Given the description of an element on the screen output the (x, y) to click on. 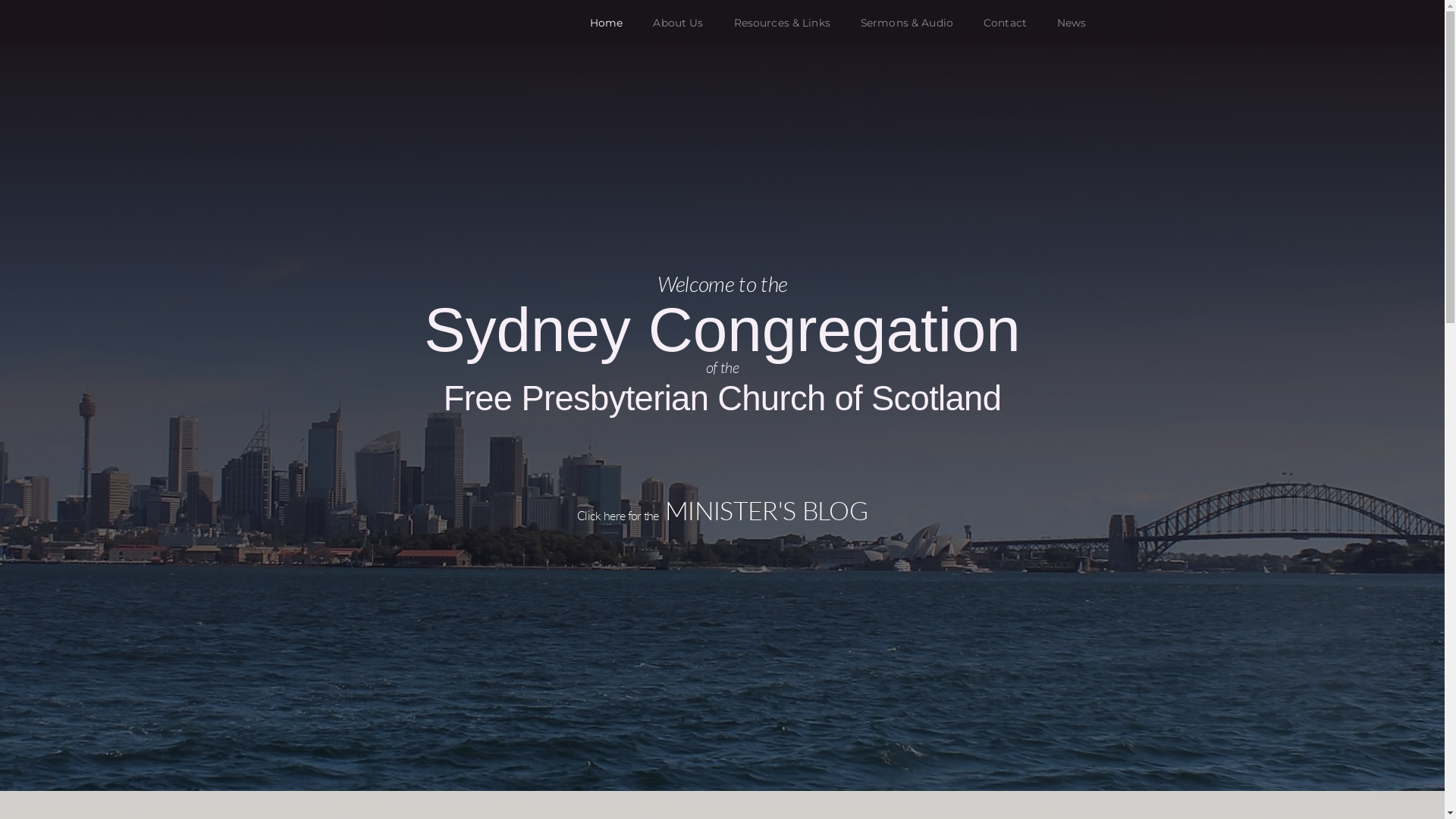
Resources & Links Element type: text (781, 22)
Home Element type: text (606, 22)
Sermons & Audio Element type: text (906, 22)
News Element type: text (1071, 22)
Contact Element type: text (1004, 22)
About Us Element type: text (677, 22)
MINISTER'S BLOG Element type: text (766, 511)
